Given the description of an element on the screen output the (x, y) to click on. 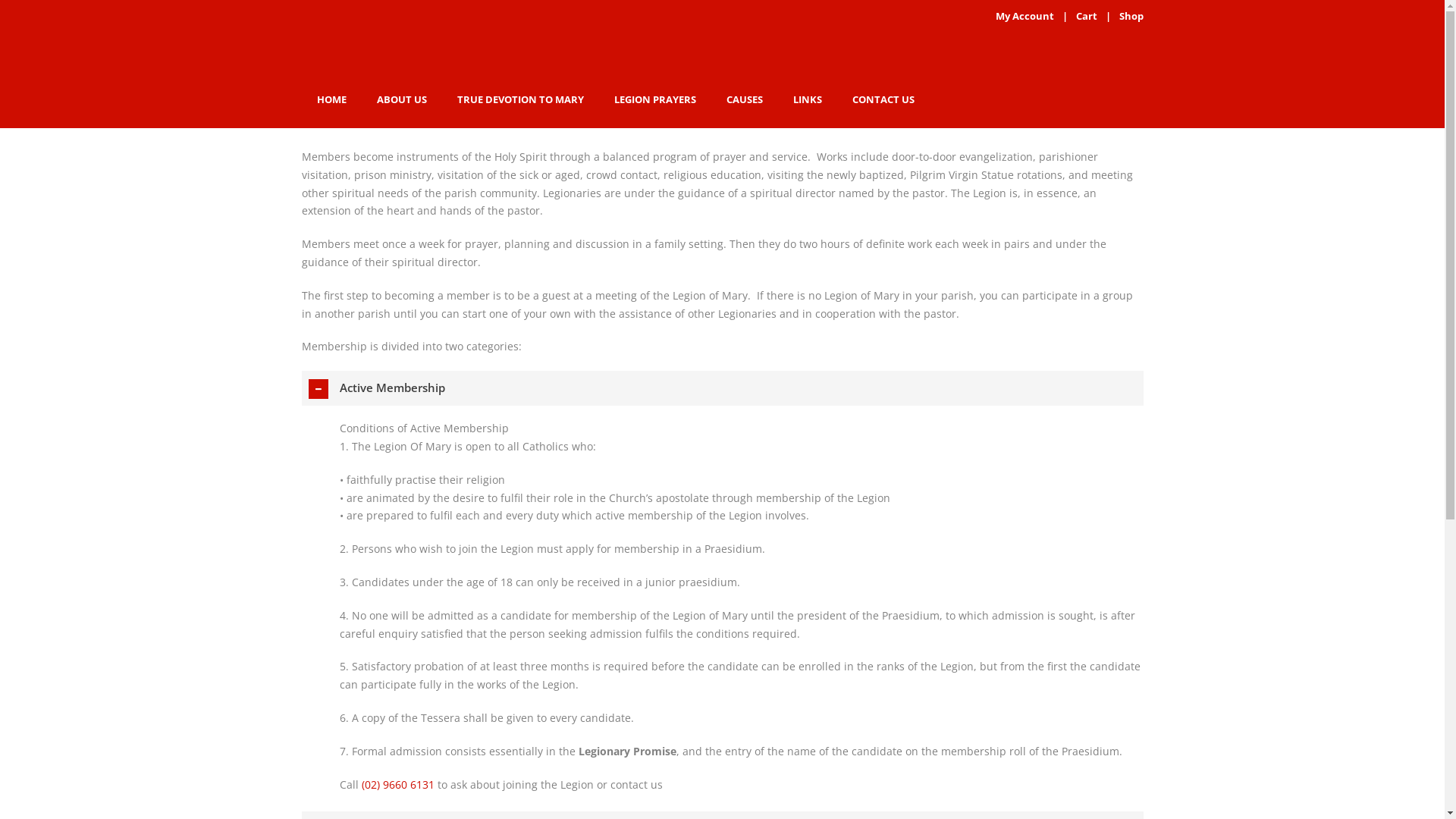
My Account Element type: text (1023, 15)
Cart Element type: text (1085, 15)
LINKS Element type: text (807, 99)
Shop Element type: text (1131, 15)
LEGION PRAYERS Element type: text (655, 99)
CONTACT US Element type: text (883, 99)
CAUSES Element type: text (744, 99)
ABOUT US Element type: text (400, 99)
HOME Element type: text (331, 99)
TRUE DEVOTION TO MARY Element type: text (519, 99)
(02) 9660 6131 Element type: text (396, 784)
